Given the description of an element on the screen output the (x, y) to click on. 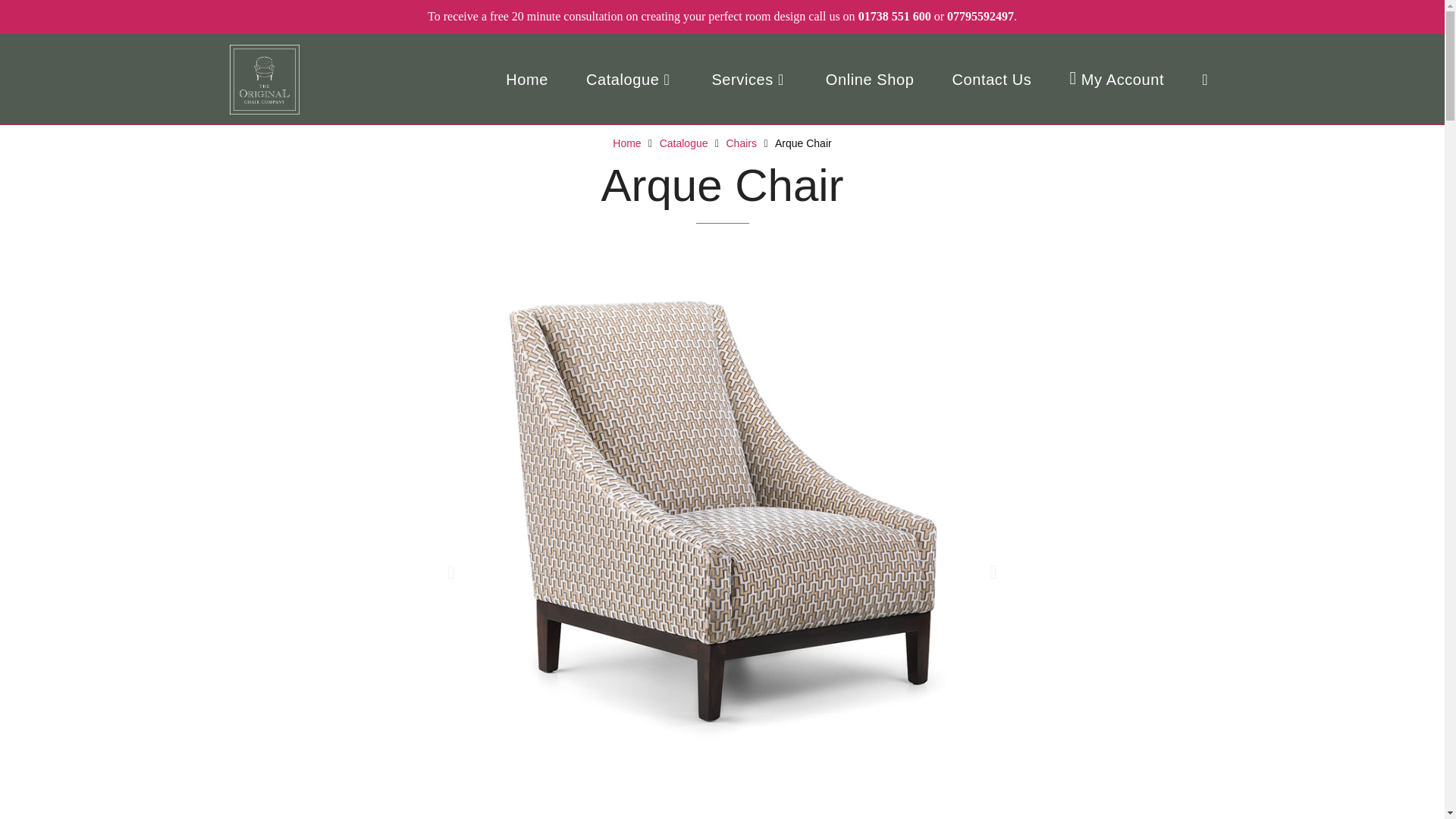
Services (749, 79)
Online Shop (869, 79)
Catalogue (683, 142)
Chairs (741, 142)
Home (626, 142)
Home (526, 79)
Chairs (741, 142)
Catalogue (683, 142)
Catalogue (630, 79)
07795592497 (980, 15)
